Given the description of an element on the screen output the (x, y) to click on. 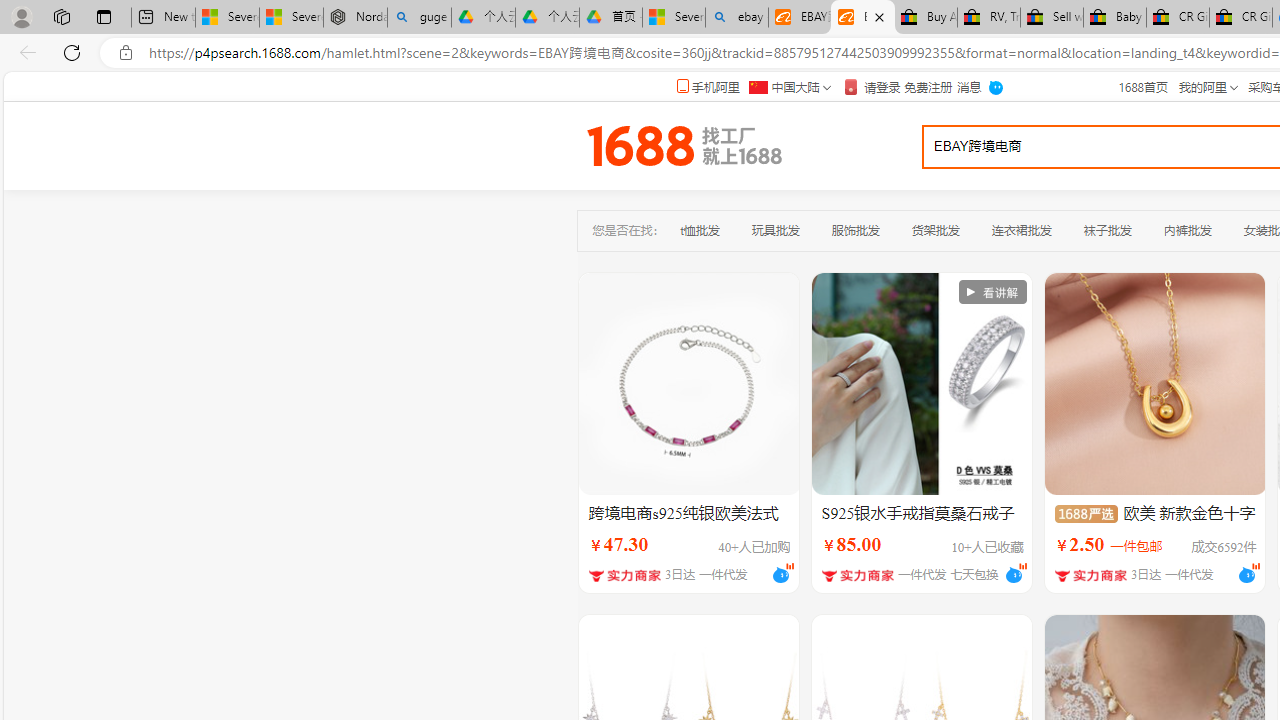
Class: shop-icon h14 (1090, 575)
